Given the description of an element on the screen output the (x, y) to click on. 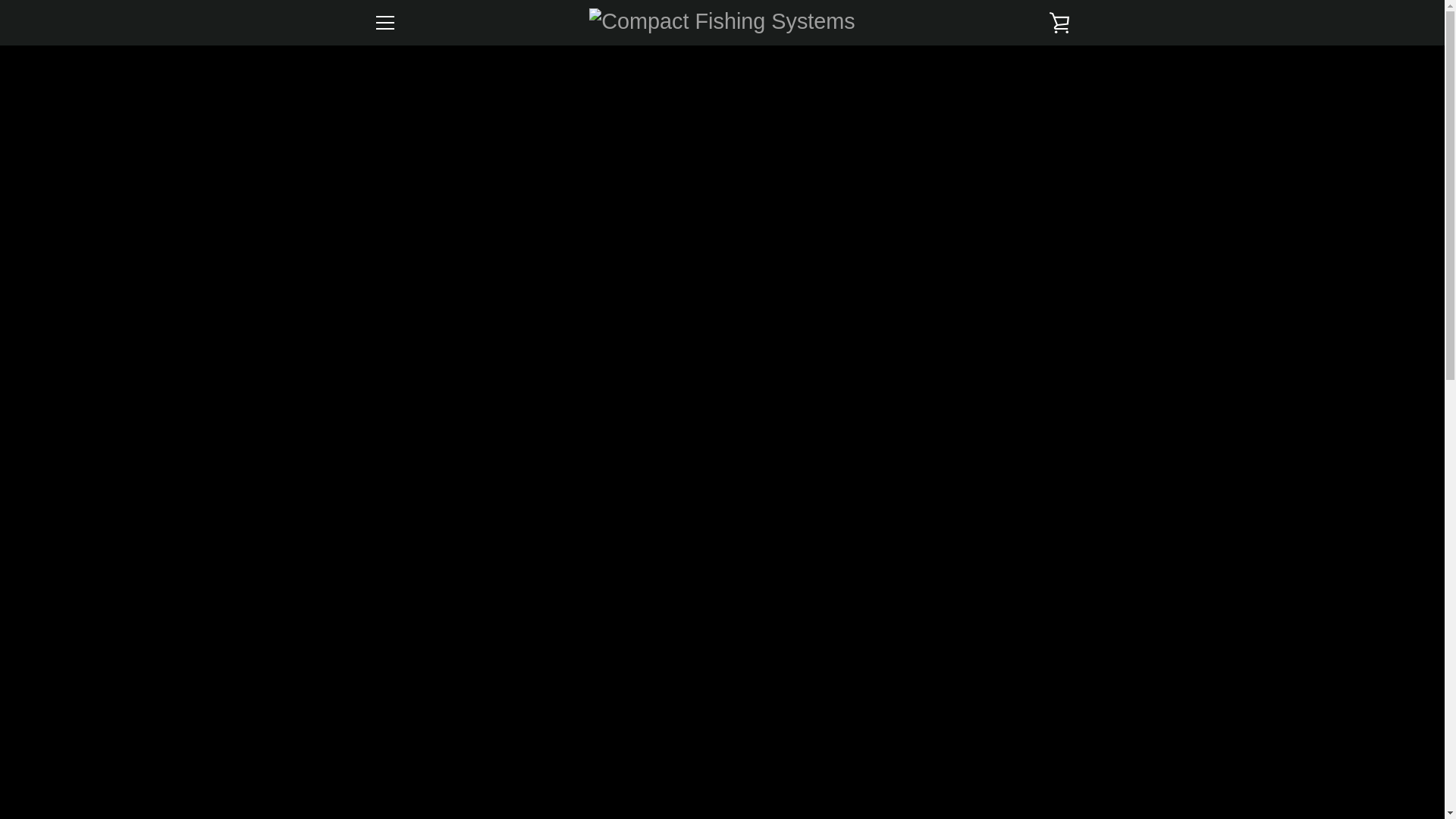
EXPAND NAVIGATION (384, 22)
VIEW CART (1059, 22)
